Given the description of an element on the screen output the (x, y) to click on. 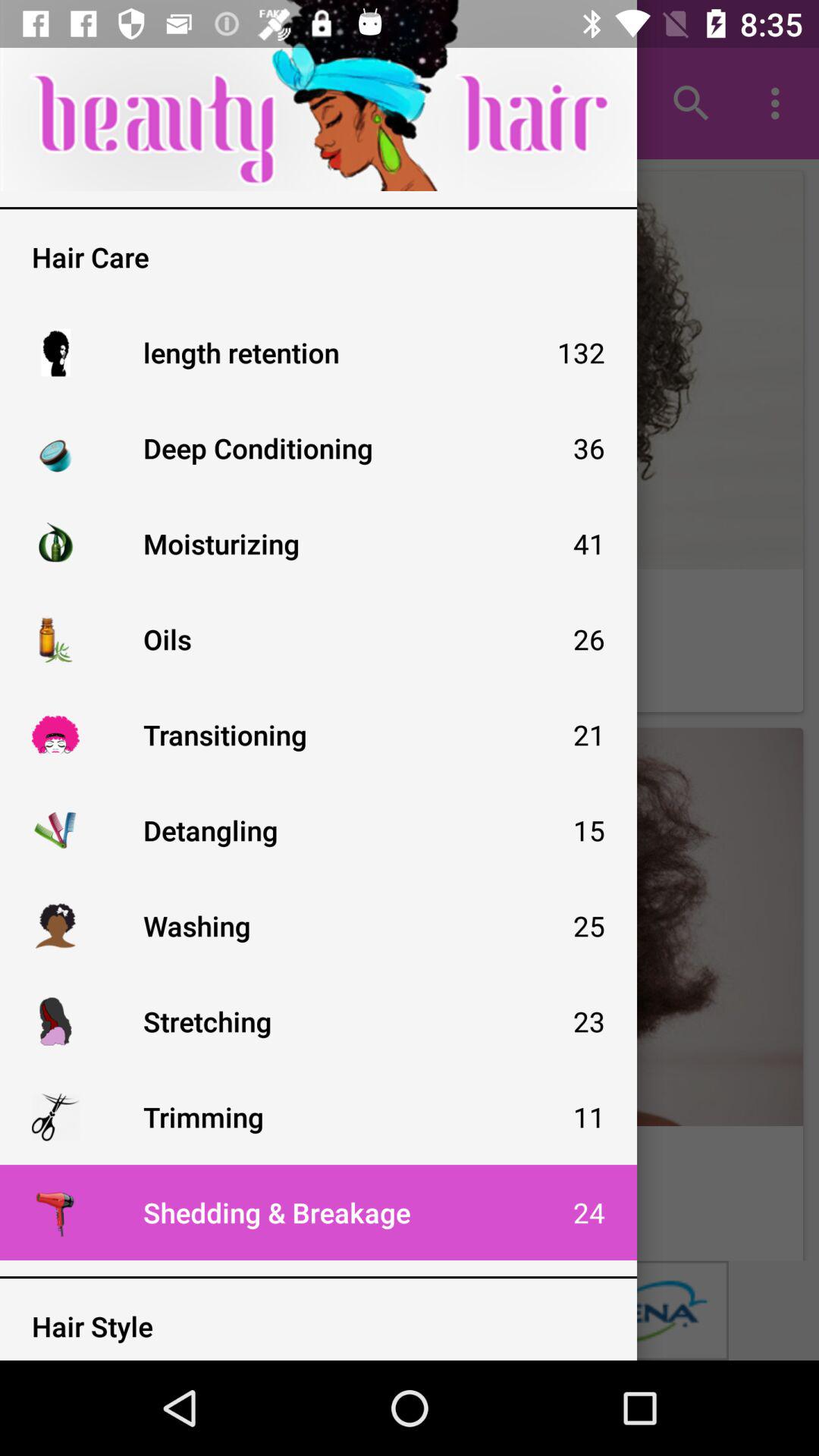
tap the icon just to the left of washing (55, 925)
select the scissor (55, 1116)
tap the blow drier icon (55, 1212)
